Given the description of an element on the screen output the (x, y) to click on. 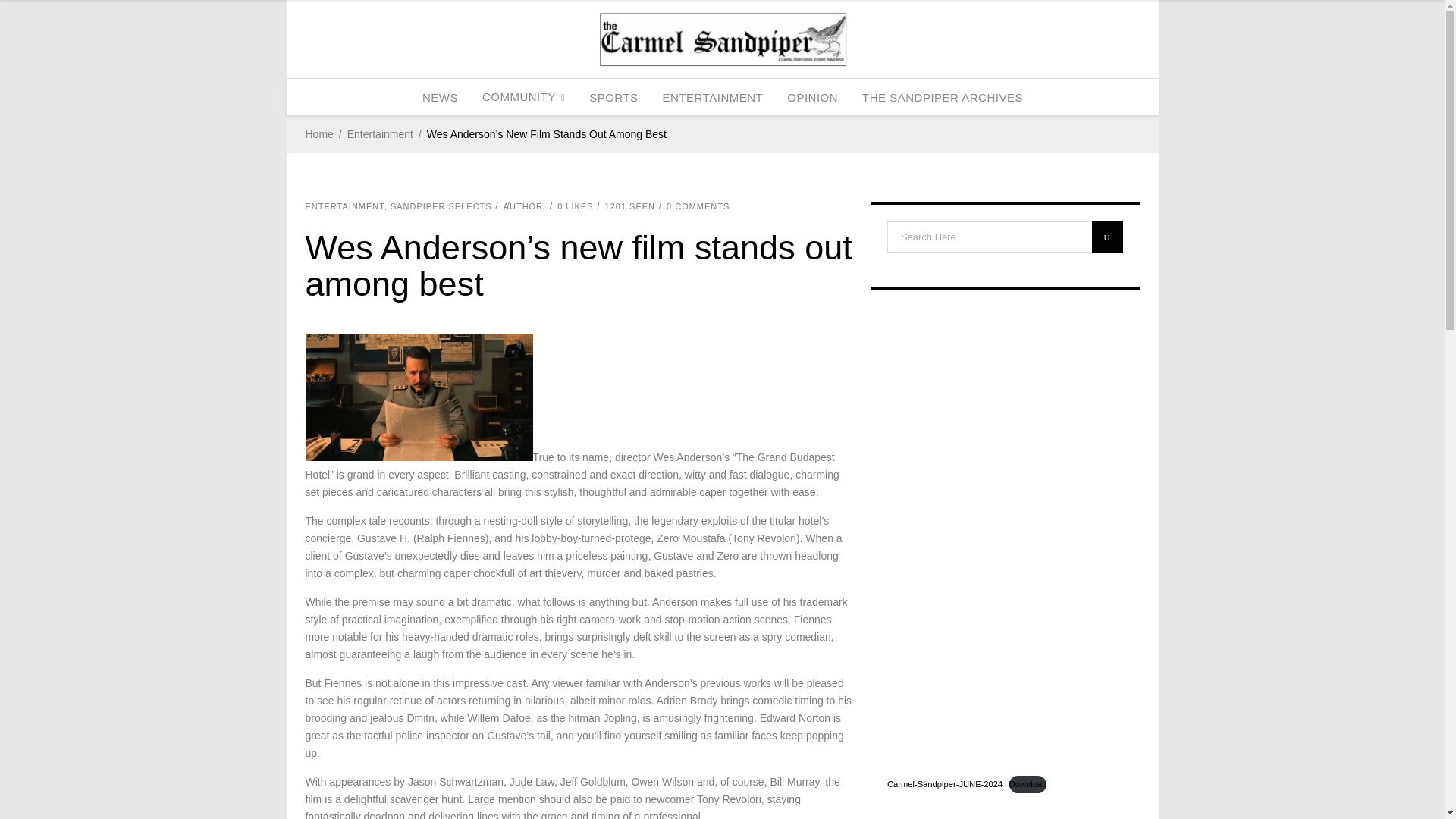
Home (318, 134)
ENTERTAINMENT (344, 205)
AUTHOR: (525, 205)
SANDPIPER SELECTS (441, 205)
0 COMMENTS (697, 205)
THE SANDPIPER ARCHIVES (942, 96)
Entertainment (380, 134)
U (1107, 236)
U (1107, 236)
COMMUNITY (523, 96)
